Given the description of an element on the screen output the (x, y) to click on. 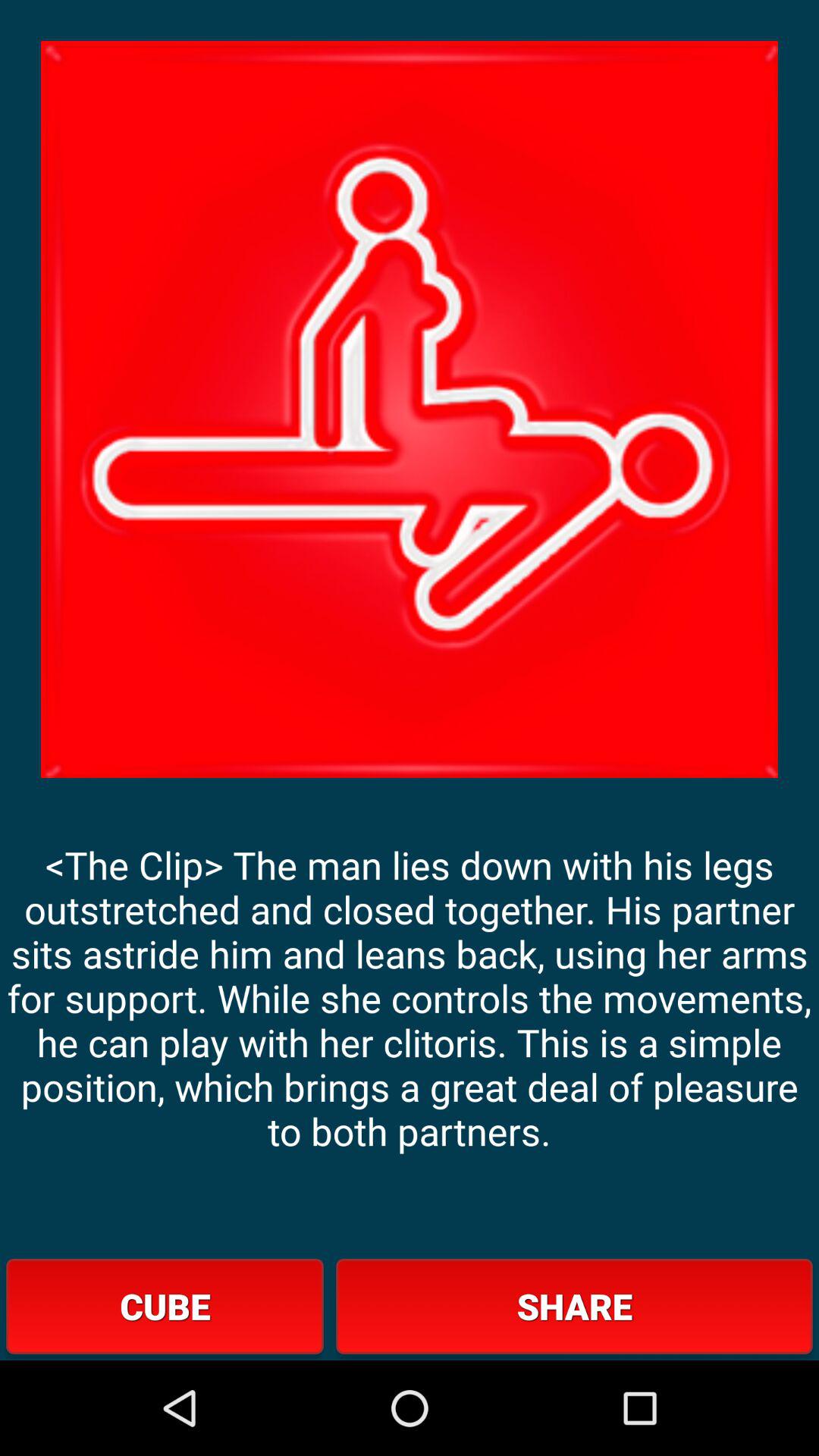
turn on button to the right of the cube item (574, 1306)
